Given the description of an element on the screen output the (x, y) to click on. 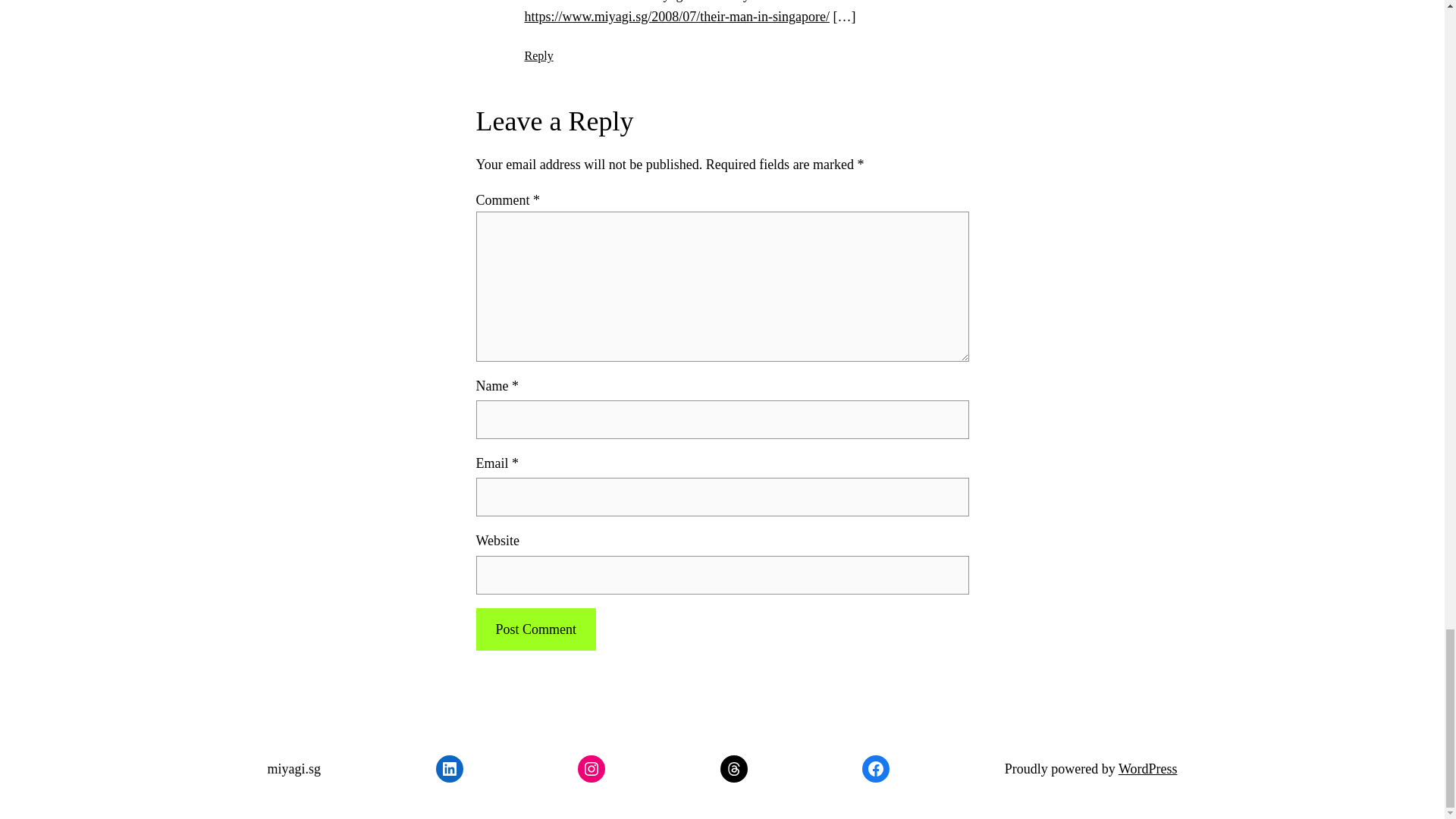
Post Comment (535, 628)
